Given the description of an element on the screen output the (x, y) to click on. 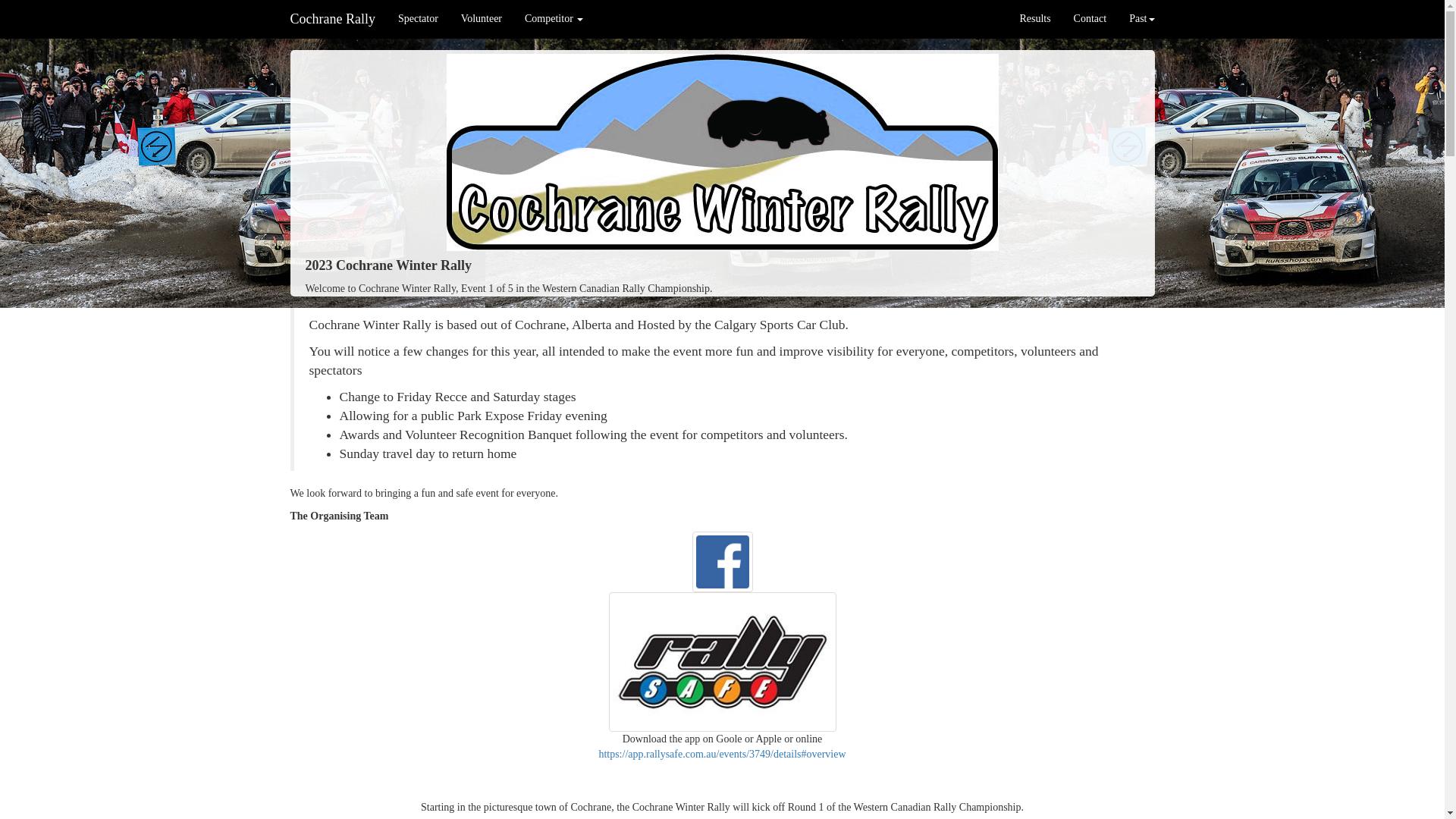
Past Element type: text (1141, 18)
Results Element type: text (1034, 18)
Cochrane Rally Element type: text (332, 18)
Competitor Element type: text (553, 18)
Volunteer Element type: text (481, 18)
Spectator Element type: text (417, 18)
Contact Element type: text (1090, 18)
https://app.rallysafe.com.au/events/3749/details#overview Element type: text (721, 753)
